Given the description of an element on the screen output the (x, y) to click on. 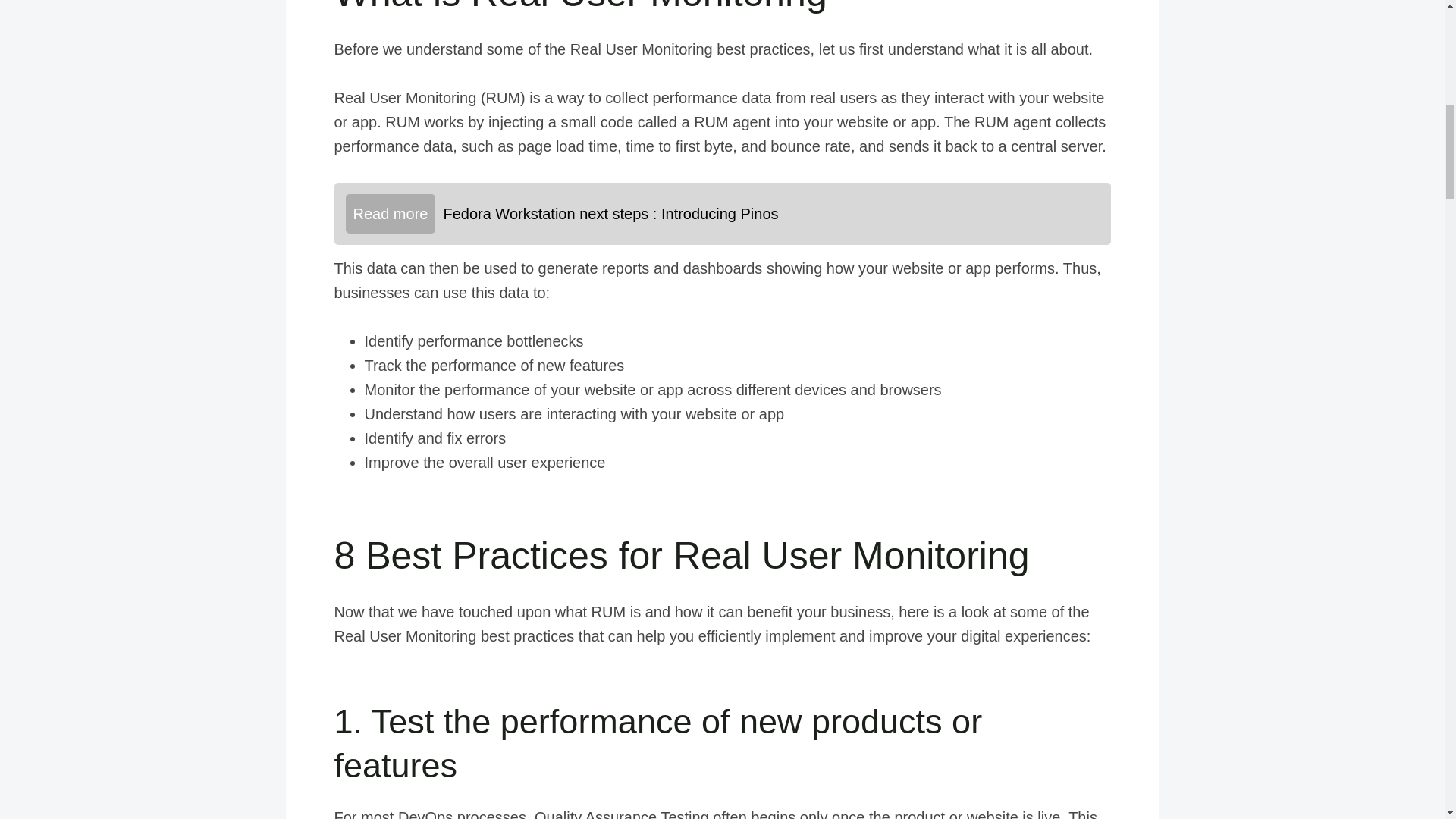
Read moreFedora Workstation next steps : Introducing Pinos (721, 213)
